Given the description of an element on the screen output the (x, y) to click on. 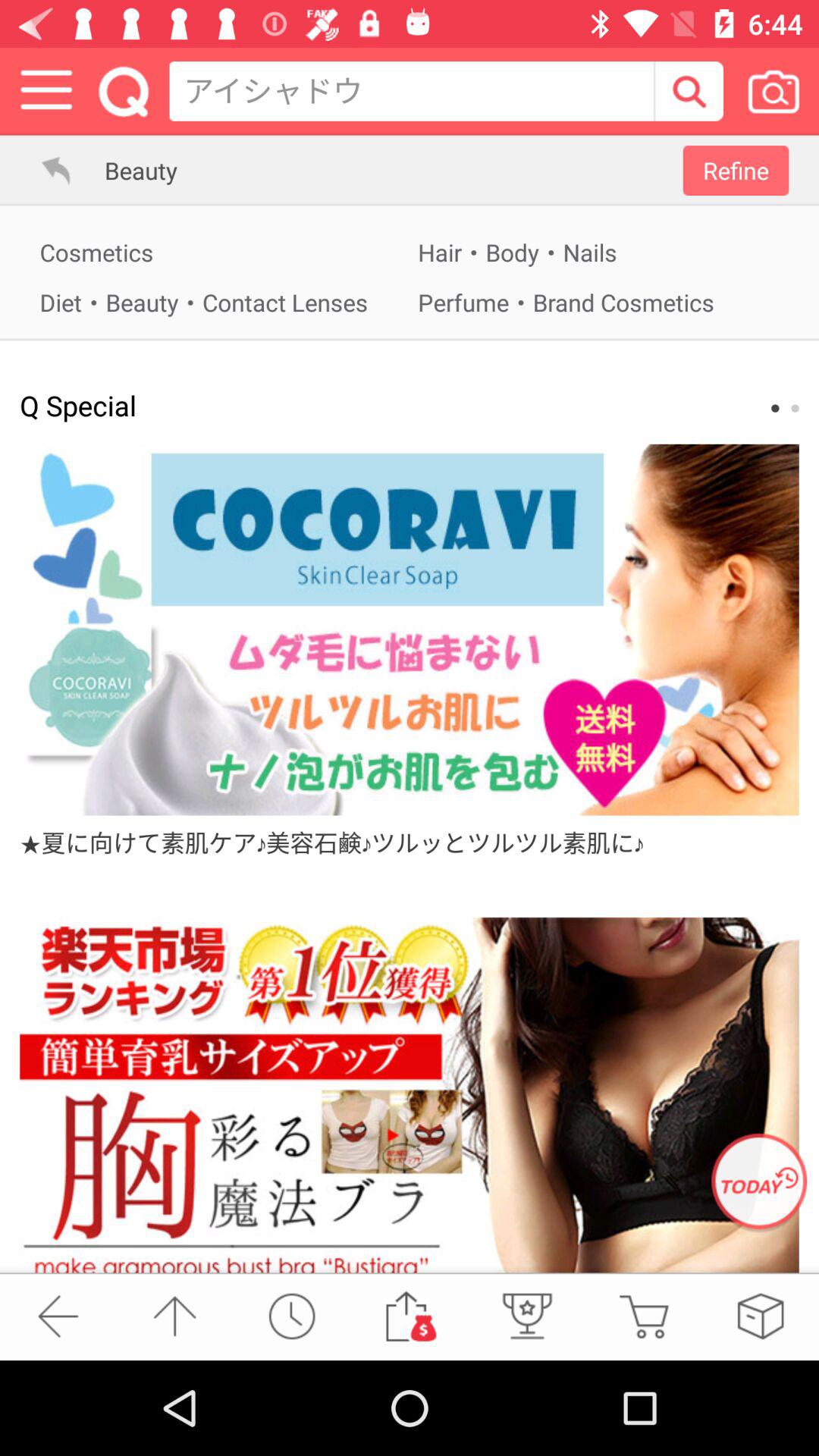
go settings (46, 91)
